Given the description of an element on the screen output the (x, y) to click on. 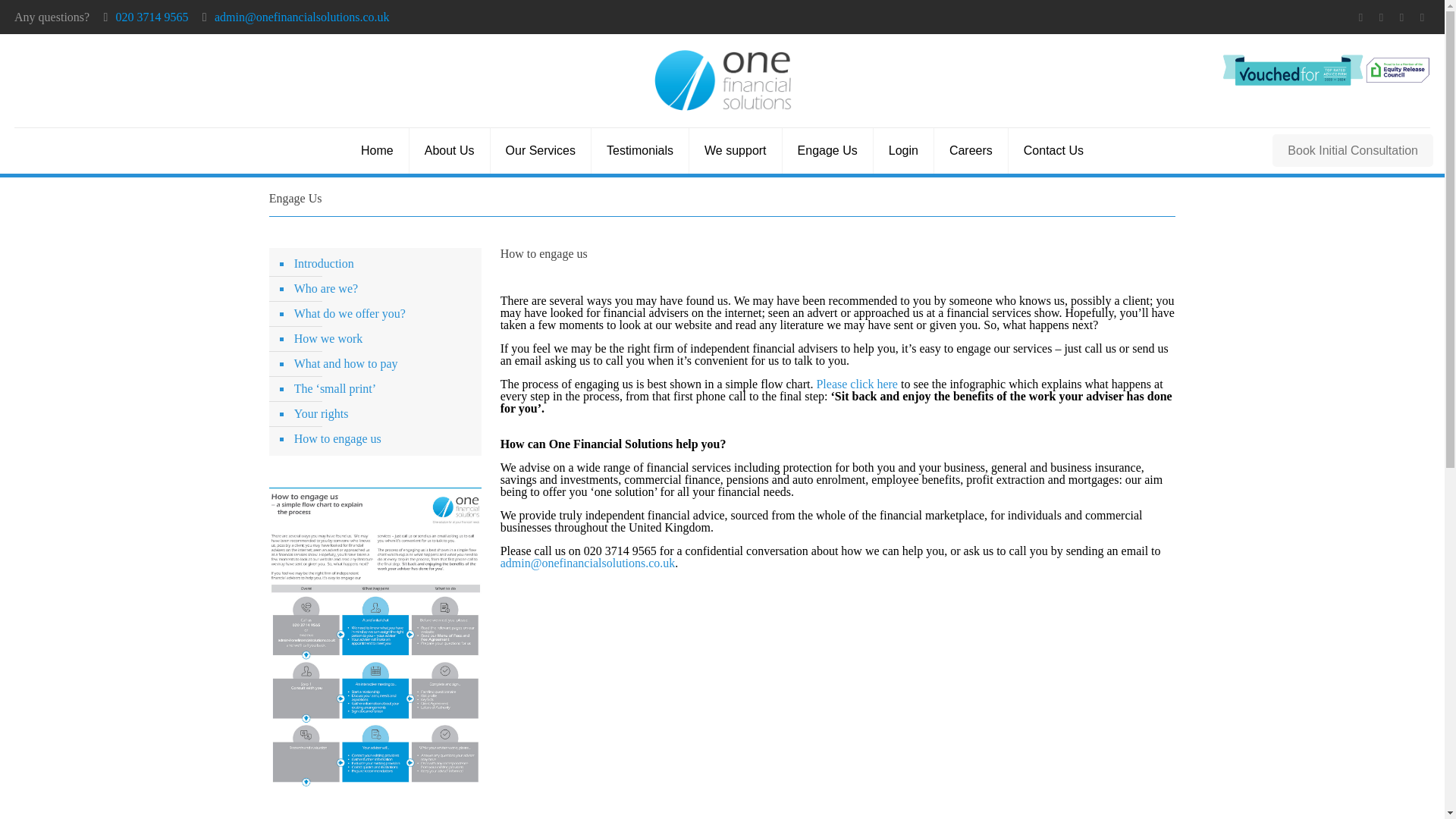
Engage Us (828, 150)
Testimonials (639, 150)
Careers (971, 150)
One Financial Solutions (721, 80)
About Us (449, 150)
Our Services (540, 150)
quity-release-council (1325, 69)
Contact Us (1054, 150)
Login (903, 150)
LinkedIn (1421, 17)
020 3714 9565 (152, 16)
Twitter (1401, 17)
We support (735, 150)
Facebook (1360, 17)
Home (377, 150)
